Given the description of an element on the screen output the (x, y) to click on. 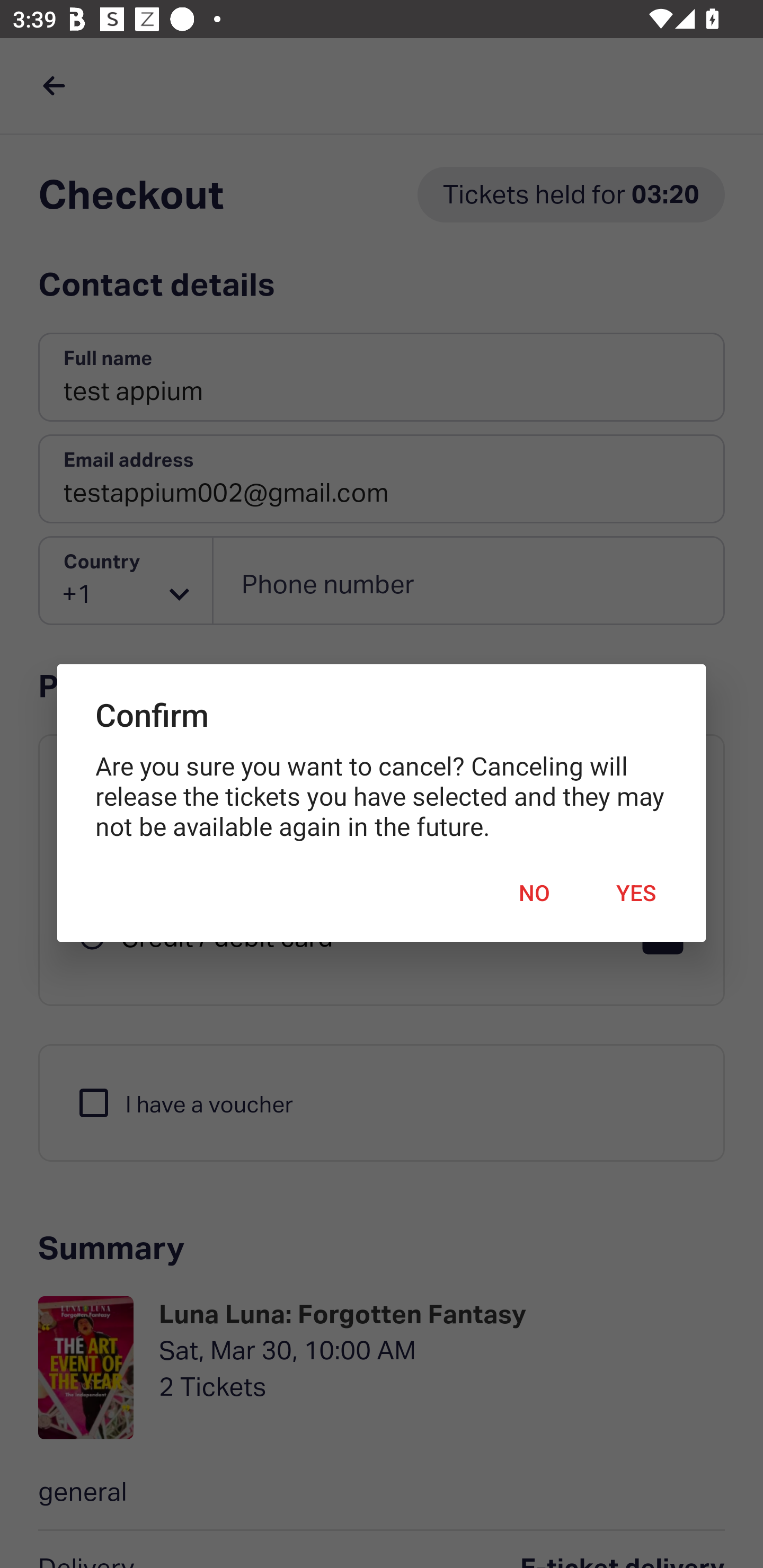
NO (533, 892)
YES (635, 892)
